Given the description of an element on the screen output the (x, y) to click on. 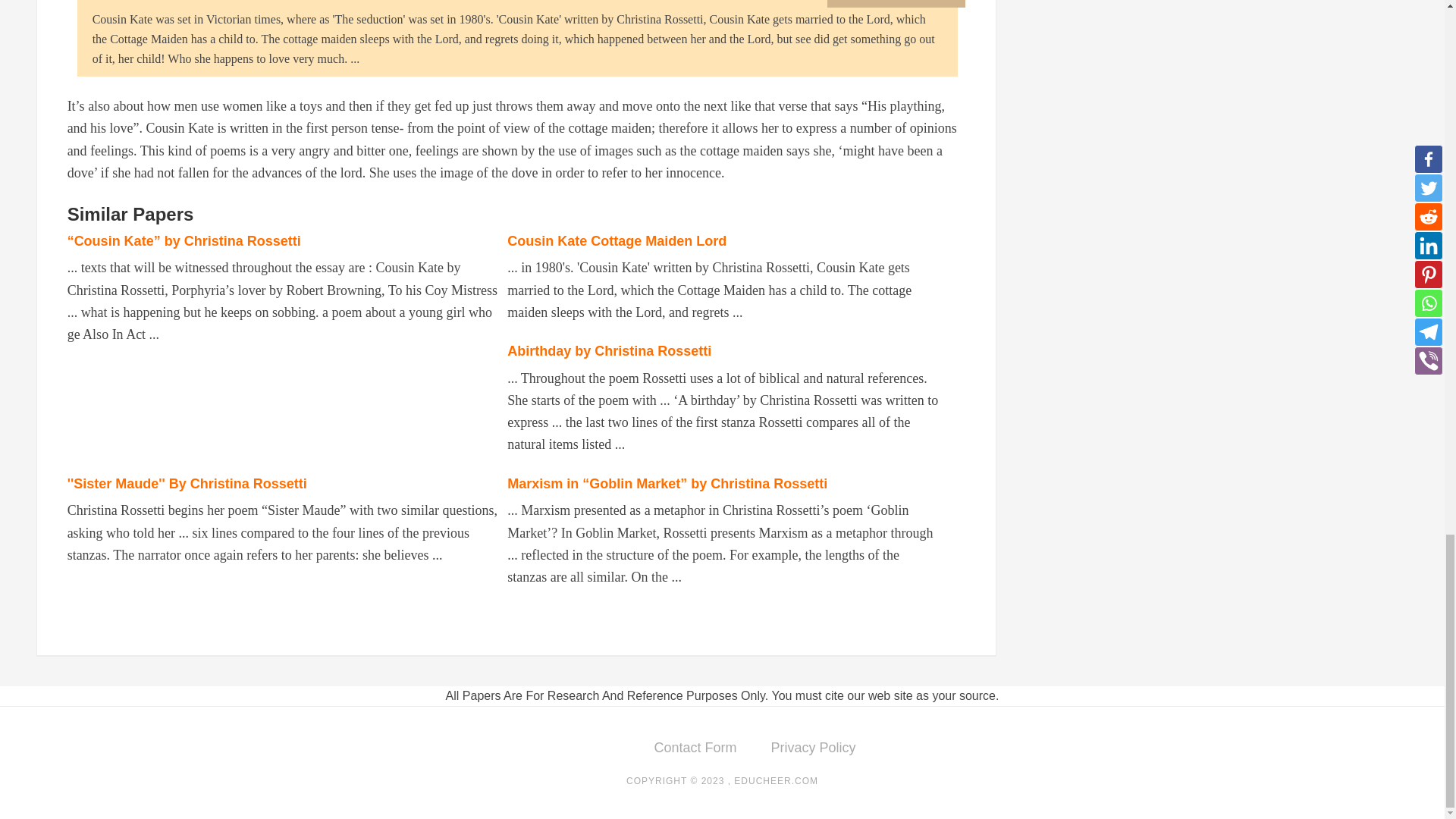
Cousin Kate Cottage Maiden Lord (616, 240)
Abirthday by Christina Rossetti (608, 350)
''Sister Maude'' By Christina Rossetti (186, 483)
